Given the description of an element on the screen output the (x, y) to click on. 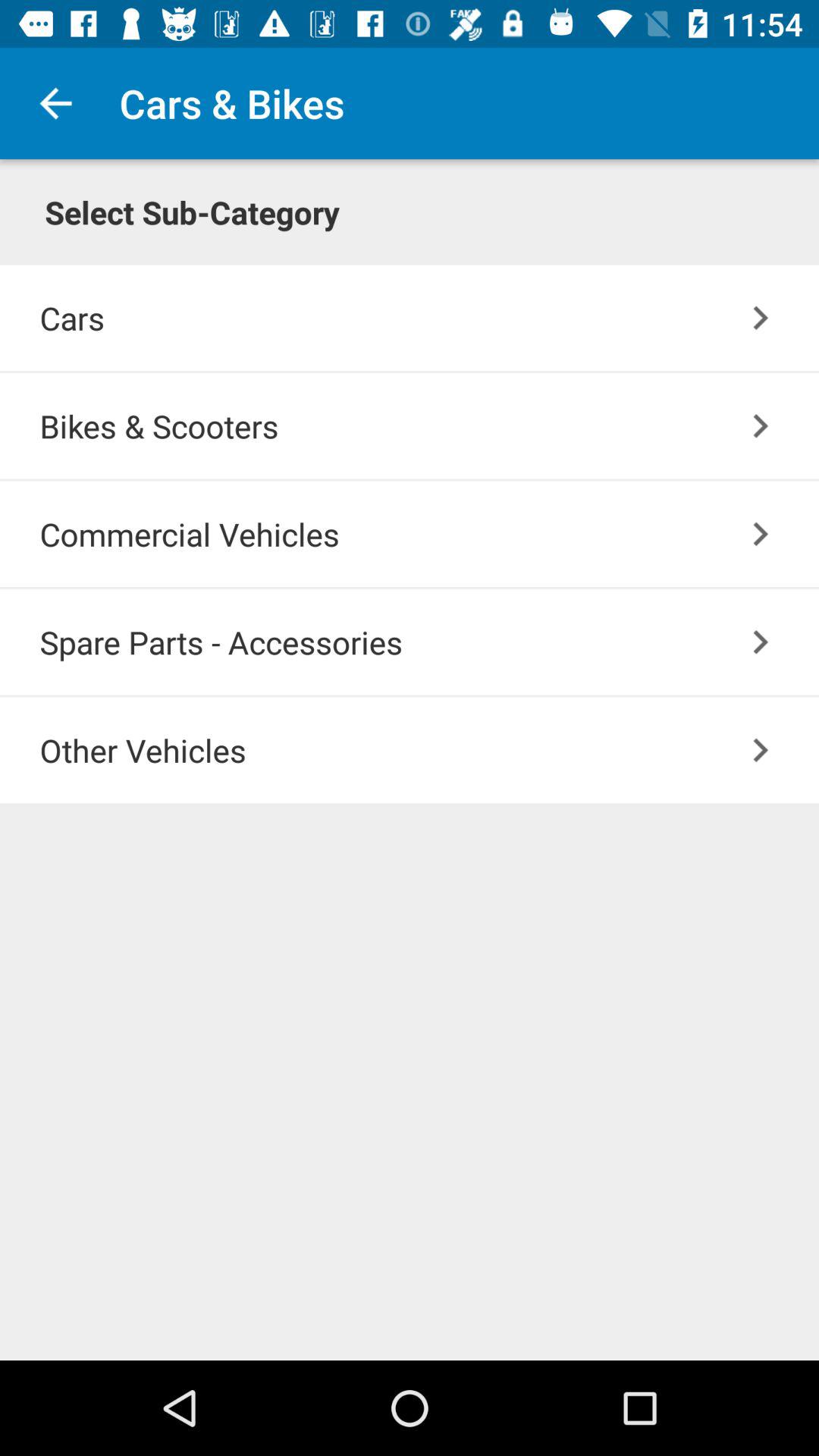
jump until the other vehicles item (429, 750)
